Given the description of an element on the screen output the (x, y) to click on. 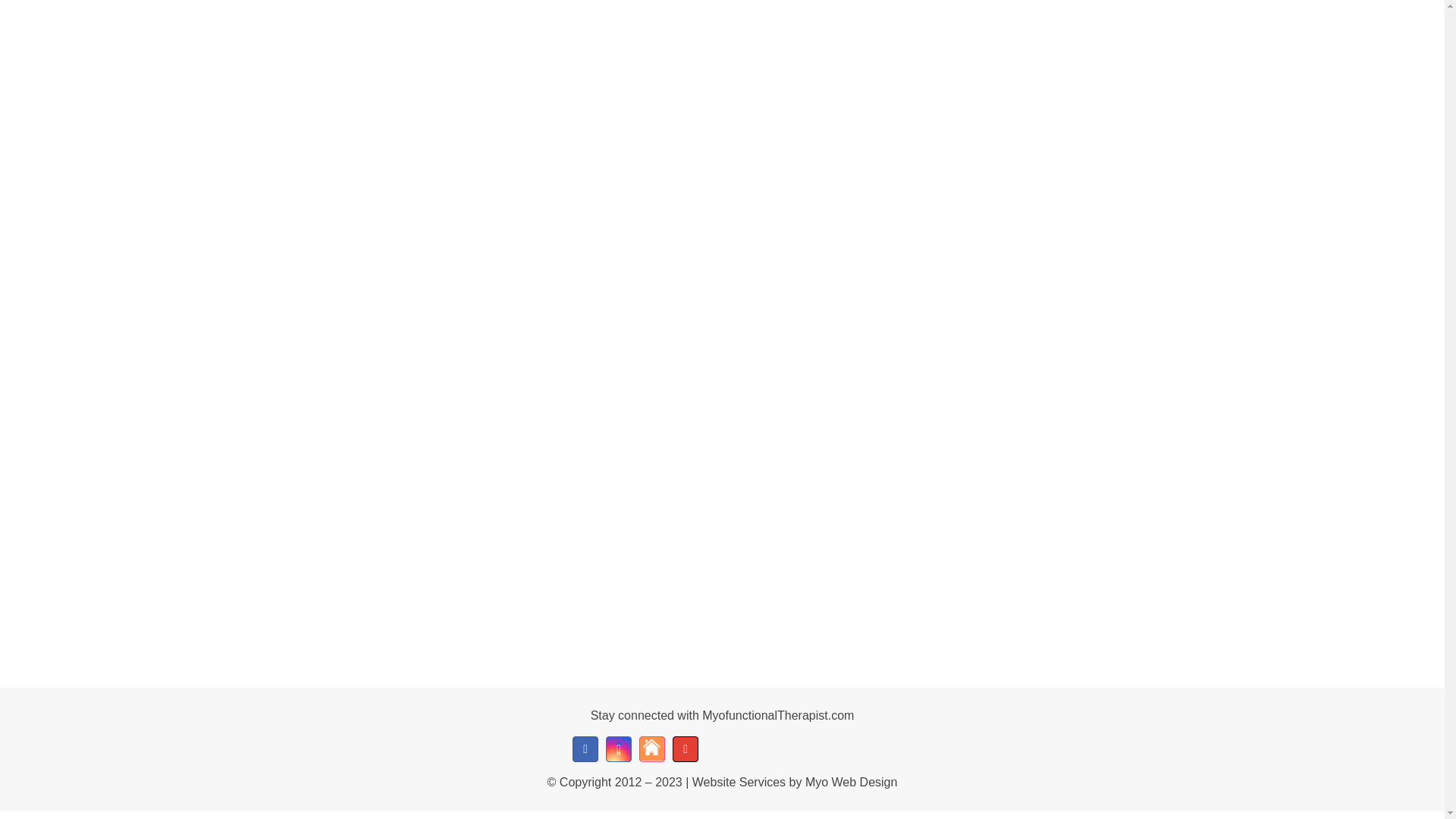
Instagram (618, 749)
Dribbble (652, 749)
Email (685, 749)
Facebook (585, 749)
